Given the description of an element on the screen output the (x, y) to click on. 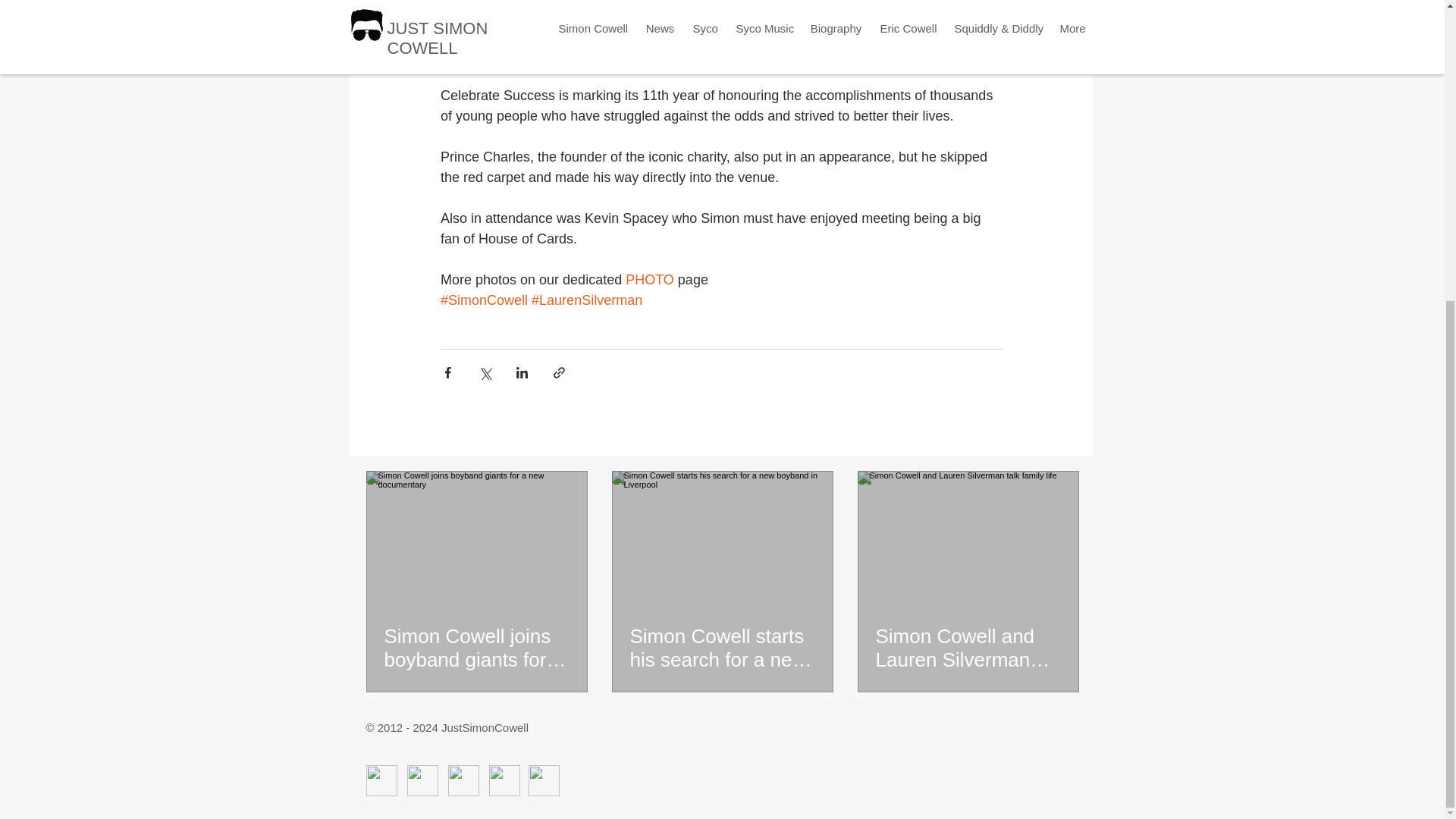
Simon Cowell joins boyband giants for a new documentary (476, 647)
PHOTO  (652, 279)
Simon Cowell and Lauren Silverman talk family life (967, 647)
